Given the description of an element on the screen output the (x, y) to click on. 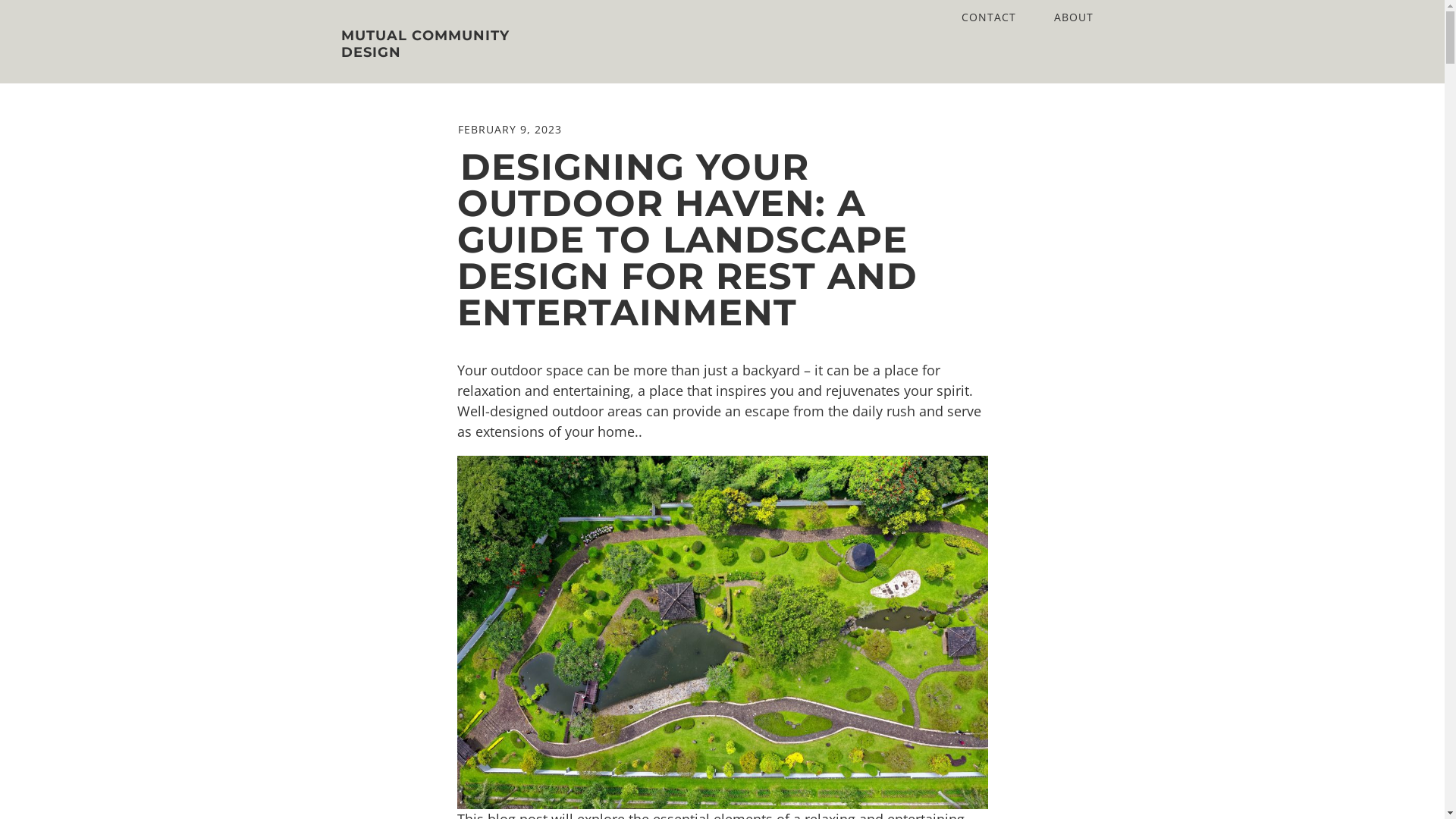
MUTUAL COMMUNITY DESIGN Element type: text (449, 44)
CONTACT Element type: text (987, 16)
ABOUT Element type: text (1073, 16)
FEBRUARY 9, 2023 Element type: text (509, 129)
